Given the description of an element on the screen output the (x, y) to click on. 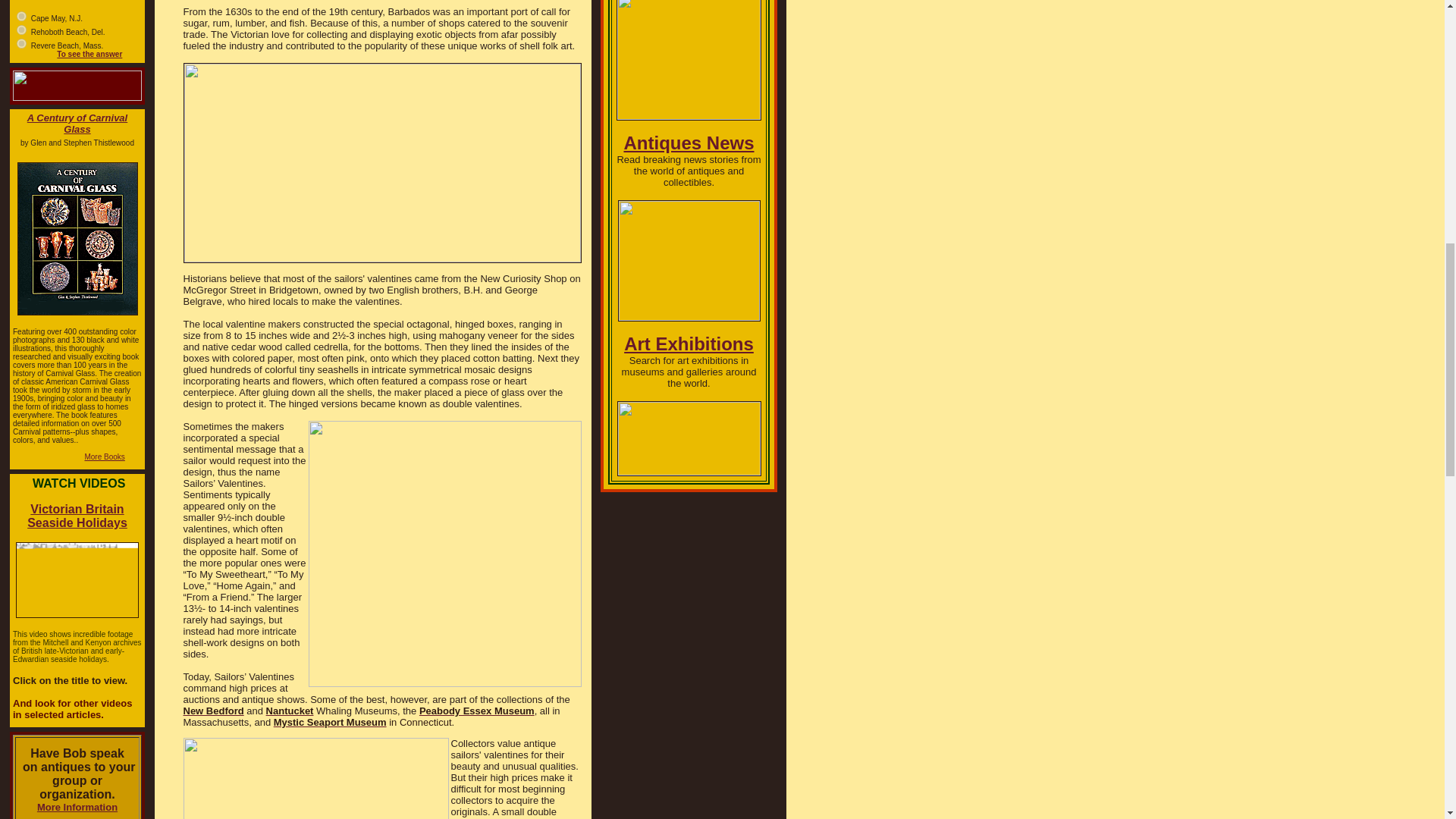
V1 (21, 43)
V1 (21, 30)
Victorian Britain Seaside Holidays (77, 515)
Nantucket (290, 710)
A Century of Carnival Glass (77, 123)
Peabody Essex Museum (476, 710)
More Information (77, 807)
V1 (21, 16)
New Bedford (213, 710)
To see the answer (89, 53)
